Given the description of an element on the screen output the (x, y) to click on. 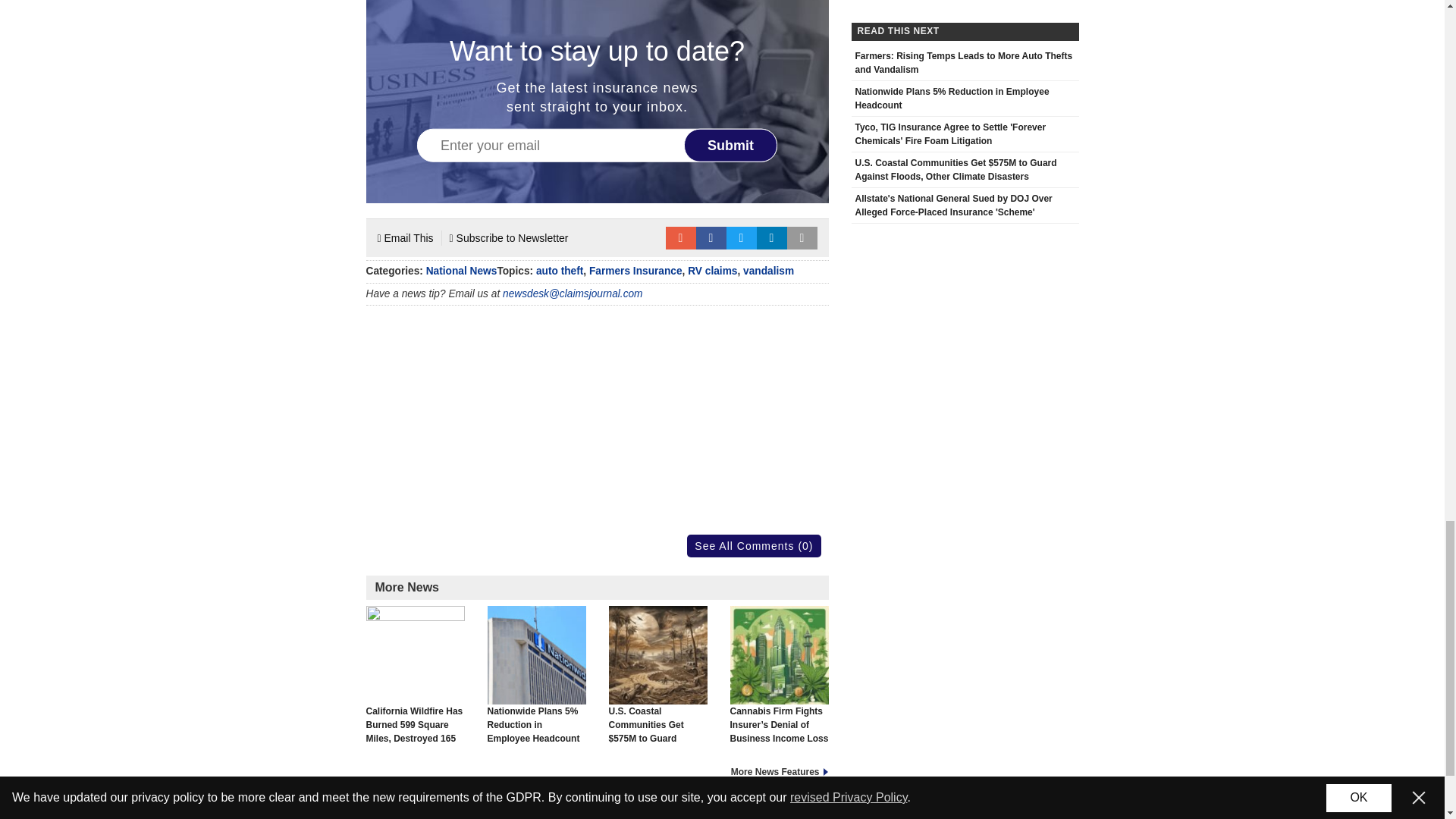
Share on Twitter. (741, 237)
Email This (405, 237)
Submit (730, 144)
Share on LinkedIn. (772, 237)
Post to Facebook. (710, 237)
Email to a friend (680, 237)
Print Article (801, 237)
